Given the description of an element on the screen output the (x, y) to click on. 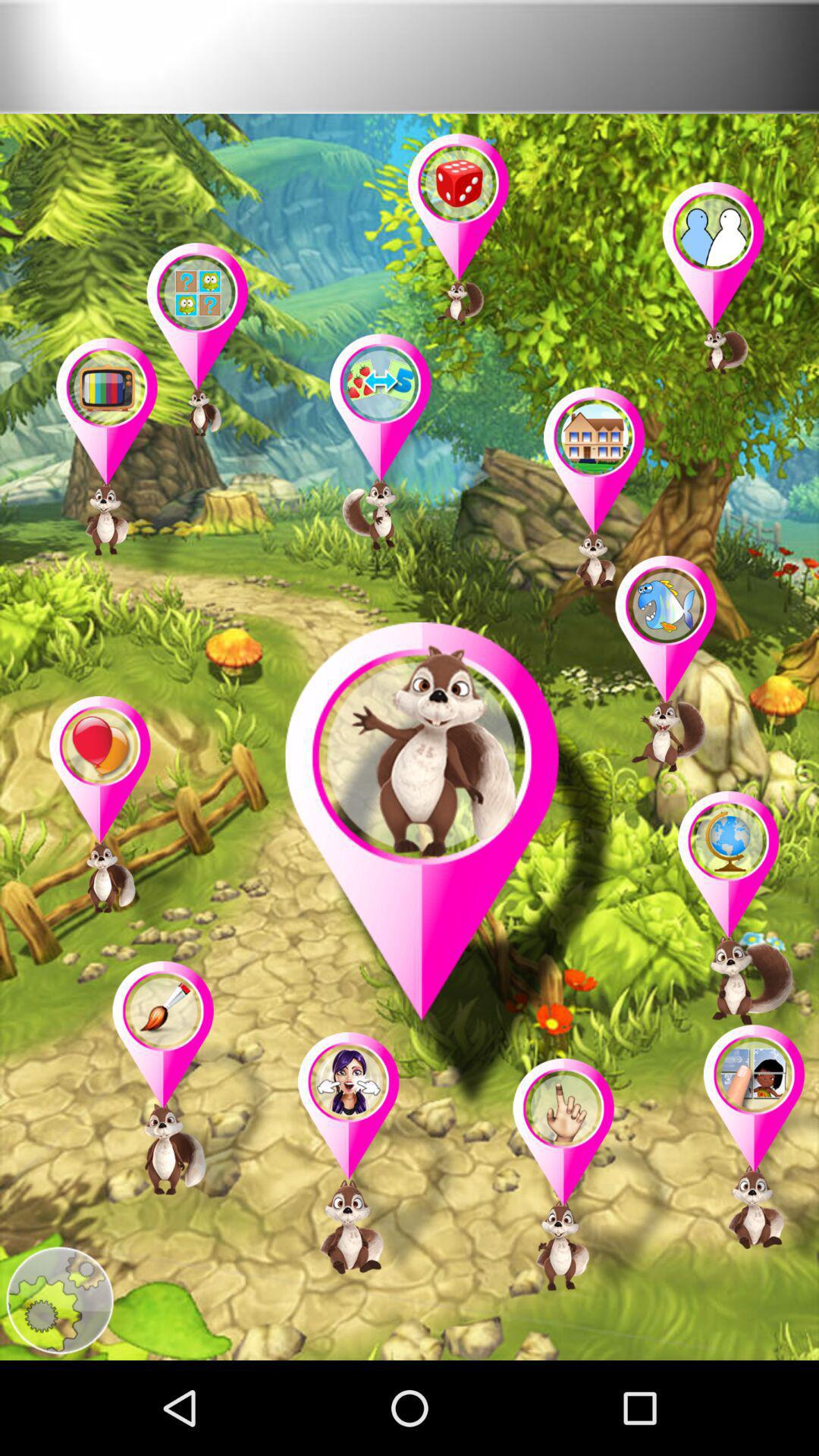
go to picture option (753, 1149)
